Given the description of an element on the screen output the (x, y) to click on. 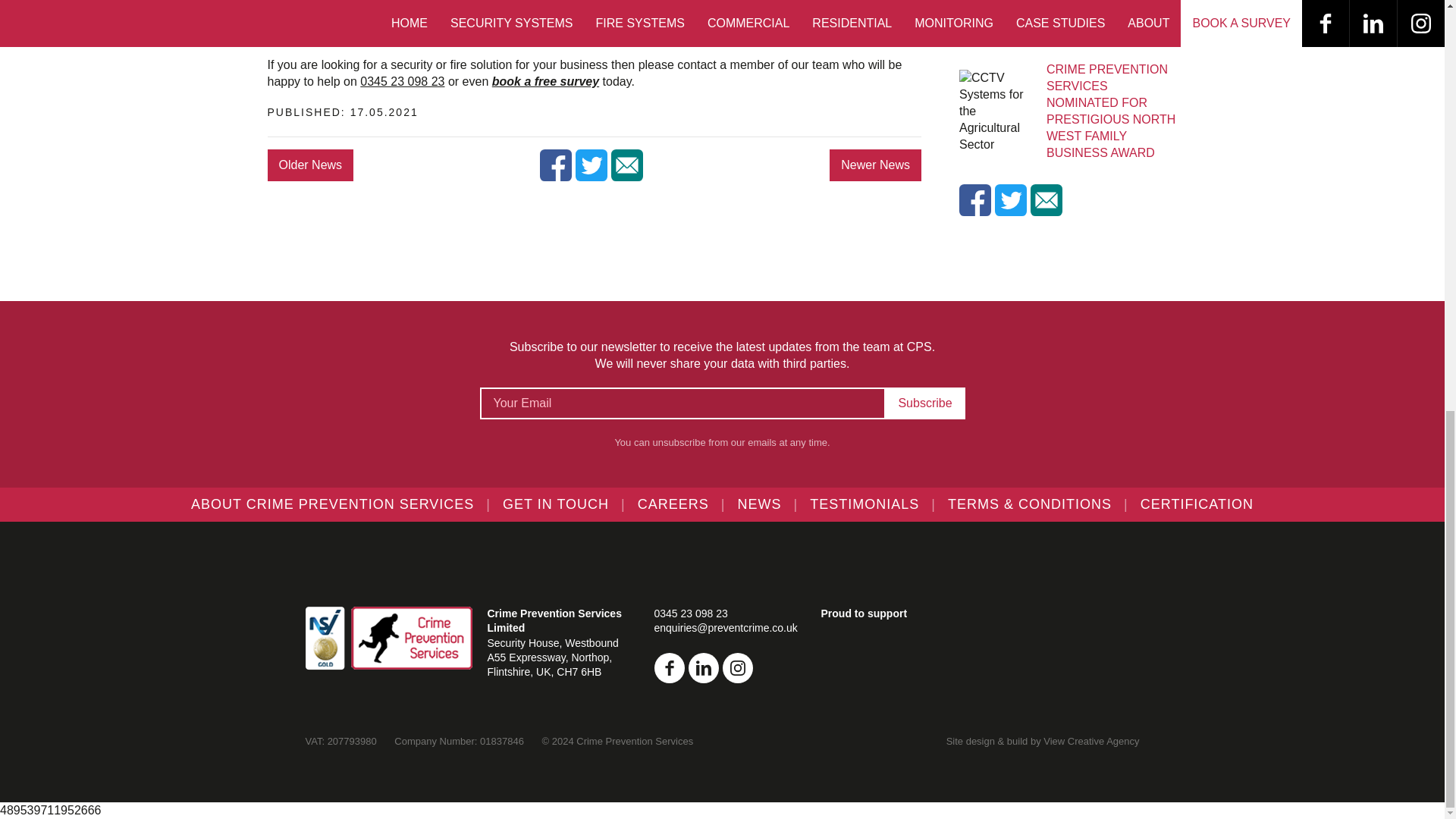
Fire Extinguishers (351, 31)
book a free survey (545, 81)
Digital Marketing, brand design and web development (1090, 740)
Older News (309, 164)
Fire Alarm (328, 14)
Subscribe (925, 403)
Newer News (875, 164)
0345 23 098 23 (401, 81)
